Given the description of an element on the screen output the (x, y) to click on. 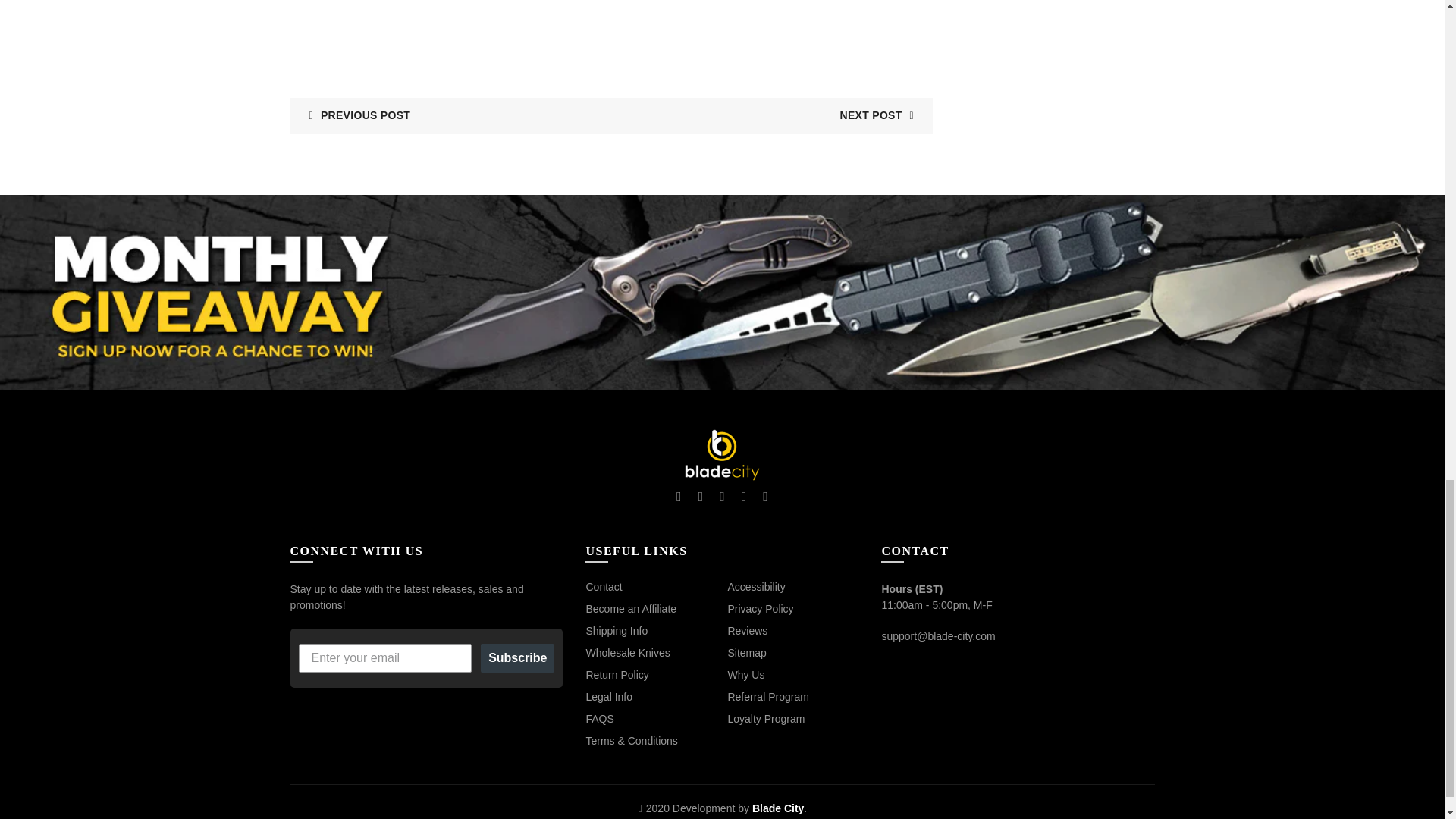
Blade City (722, 454)
